Given the description of an element on the screen output the (x, y) to click on. 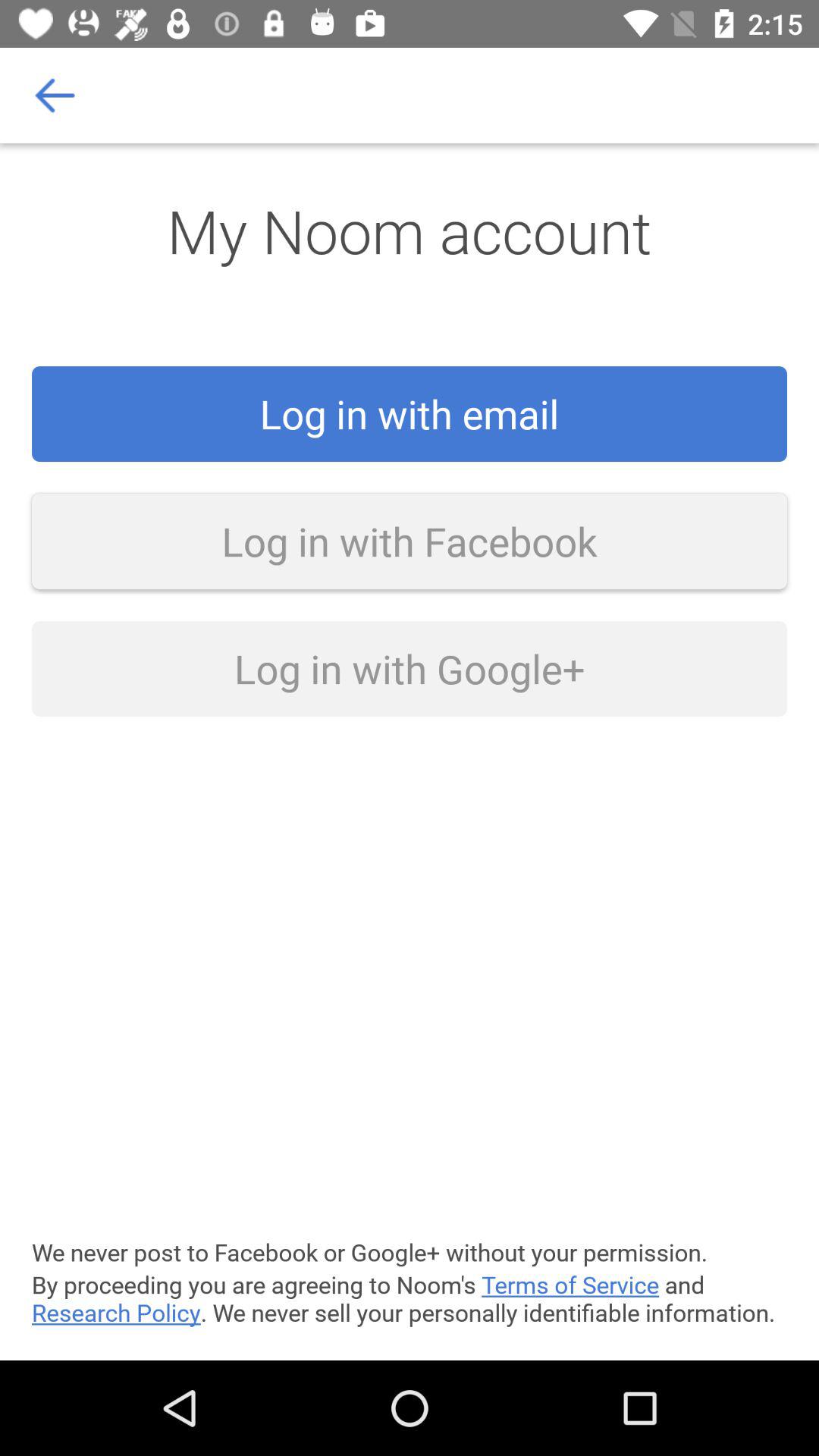
jump until the by proceeding you item (409, 1298)
